Given the description of an element on the screen output the (x, y) to click on. 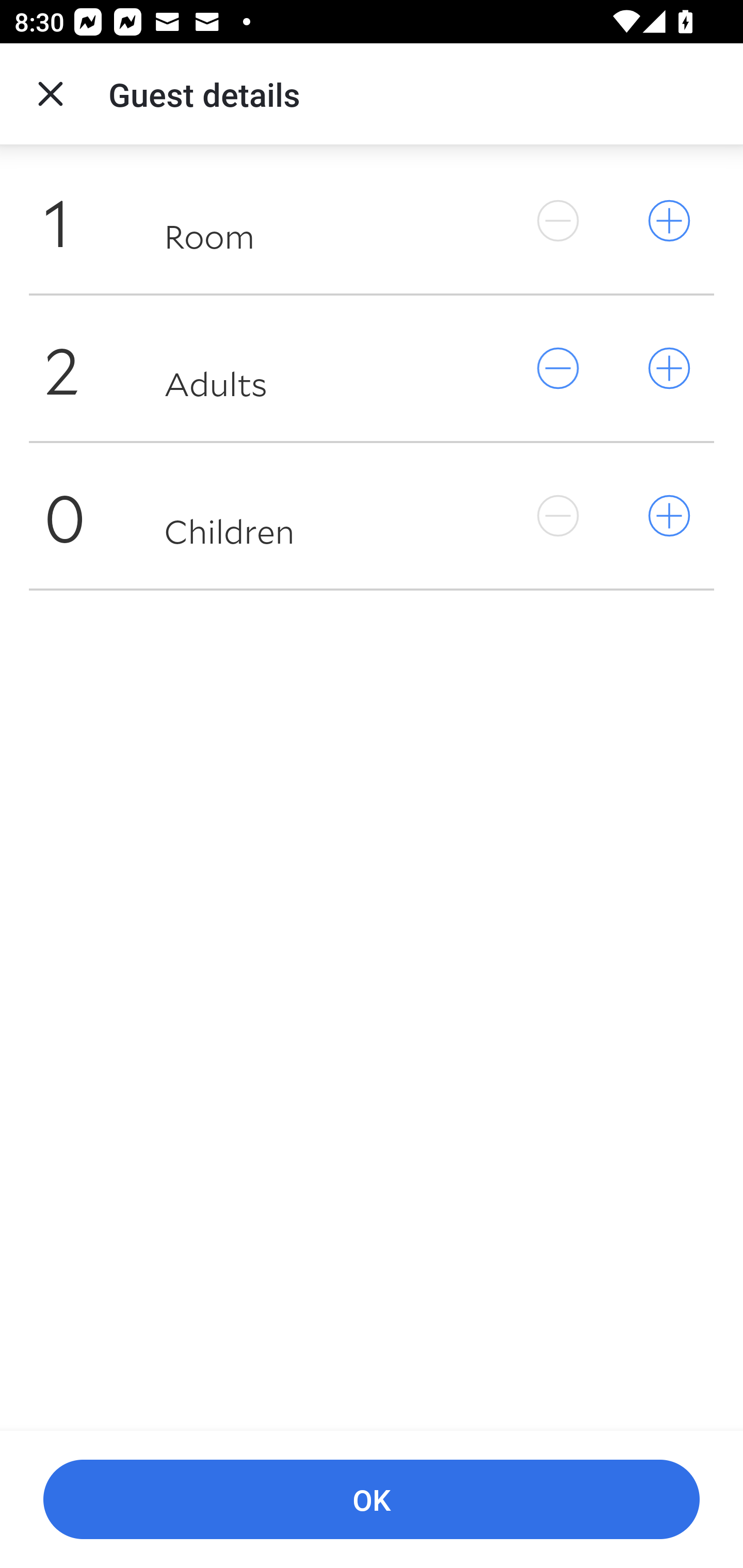
OK (371, 1499)
